Given the description of an element on the screen output the (x, y) to click on. 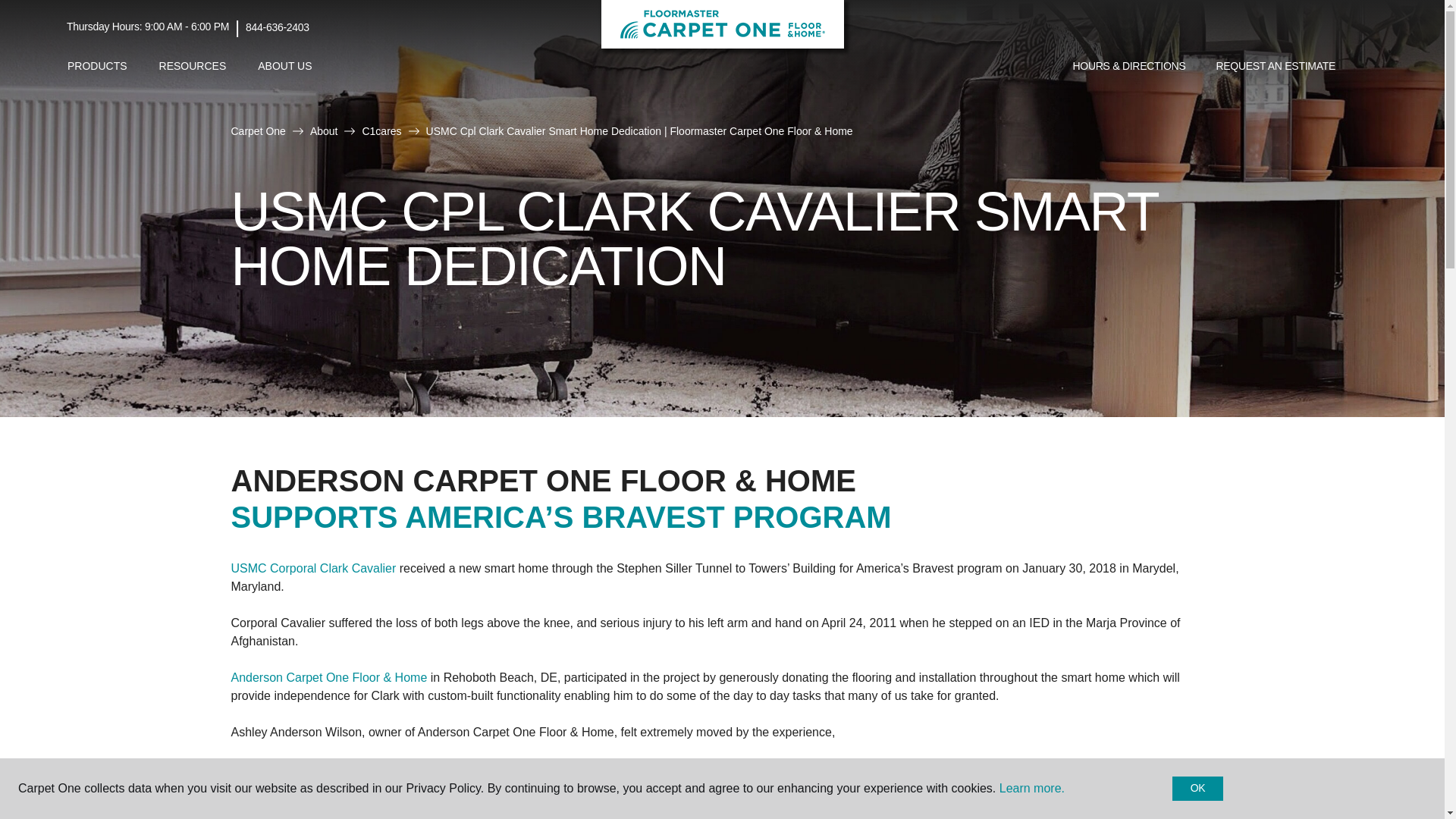
PRODUCTS (97, 66)
RESOURCES (193, 66)
ABOUT US (284, 66)
844-636-2403 (277, 27)
REQUEST AN ESTIMATE (1276, 66)
